Given the description of an element on the screen output the (x, y) to click on. 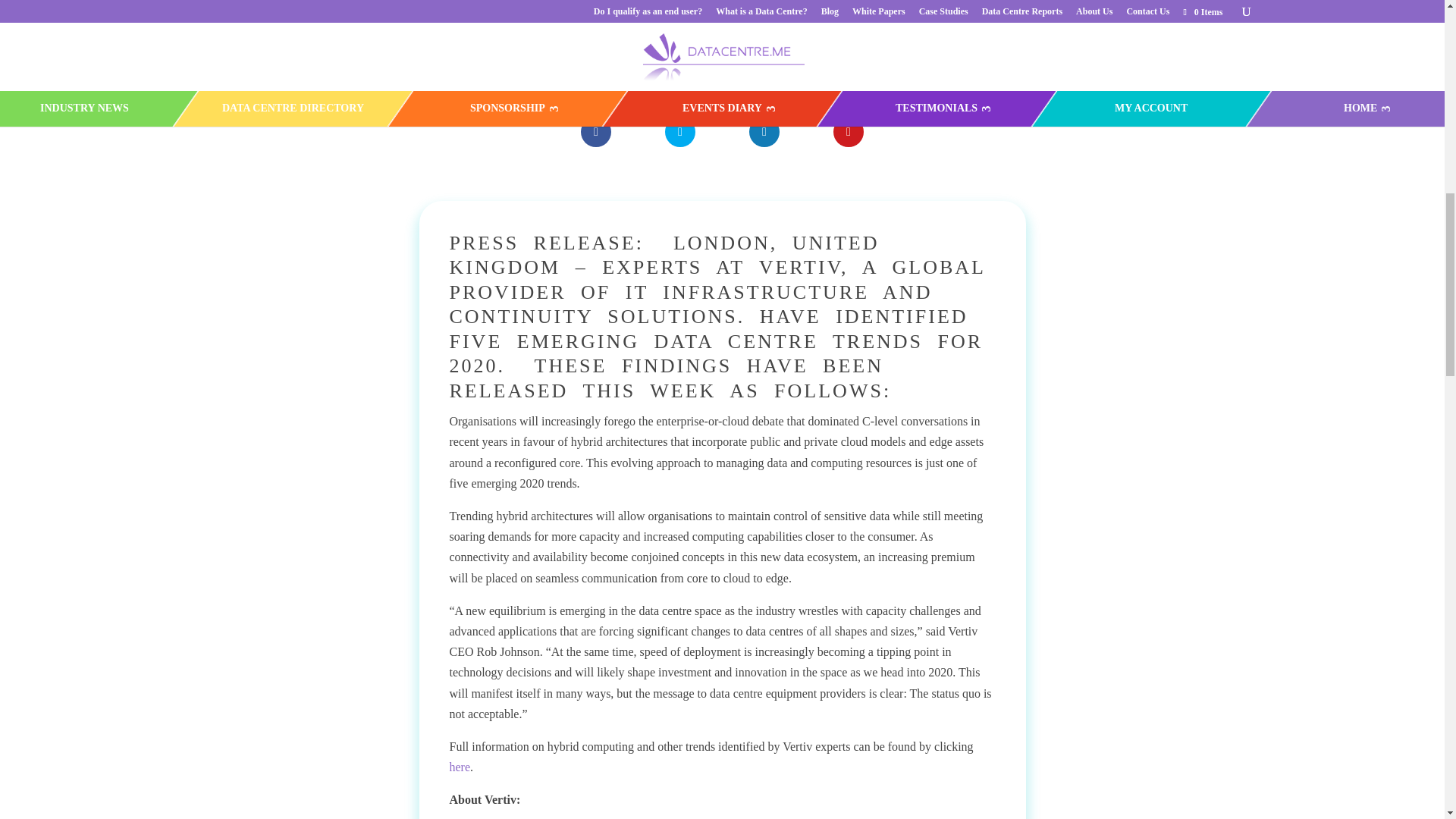
here (459, 766)
